Given the description of an element on the screen output the (x, y) to click on. 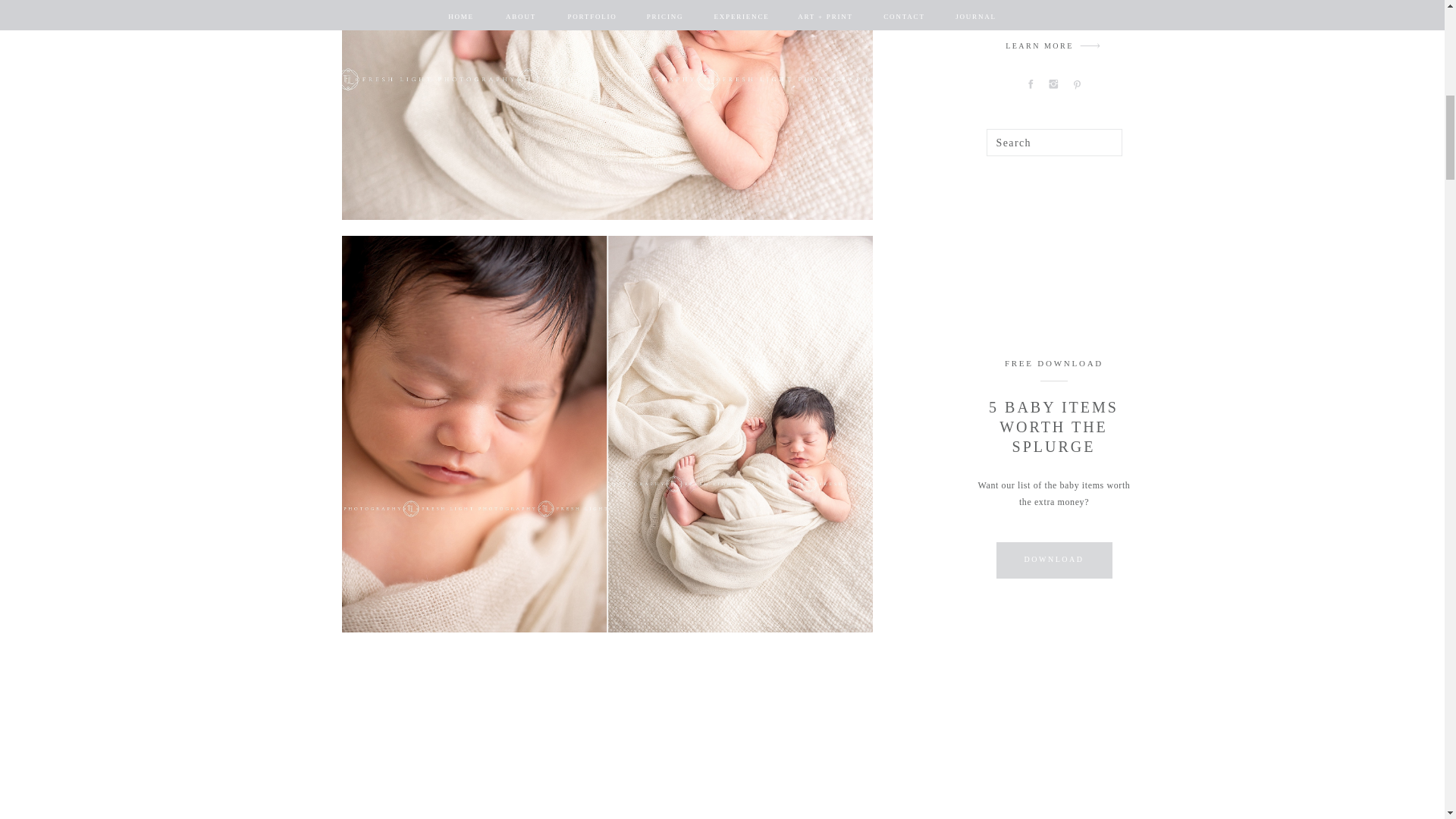
DOWNLOAD (1053, 559)
arrow (1089, 45)
